Given the description of an element on the screen output the (x, y) to click on. 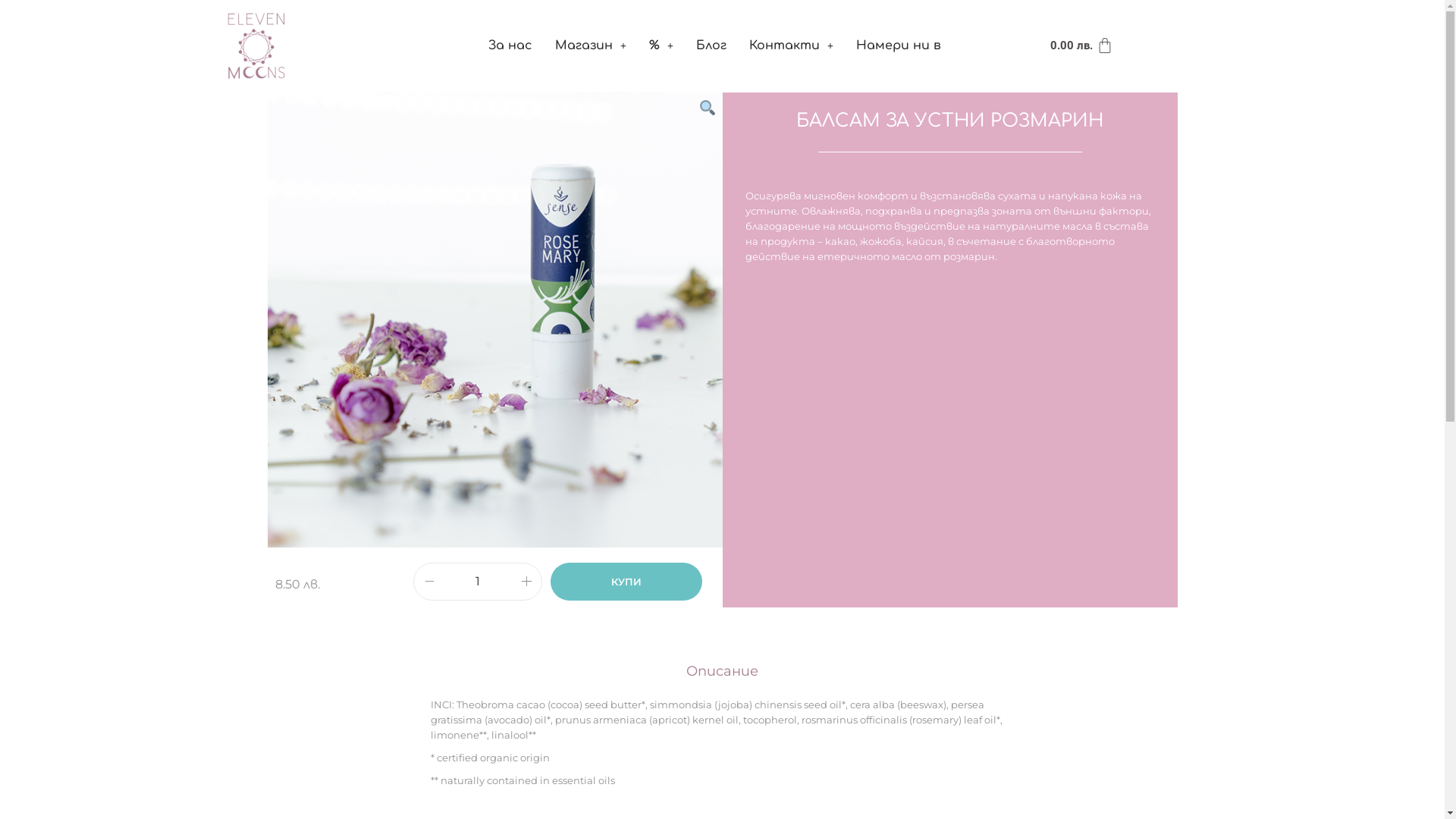
rosemary Element type: hover (493, 319)
% Element type: text (660, 45)
Search Element type: text (950, 428)
